Given the description of an element on the screen output the (x, y) to click on. 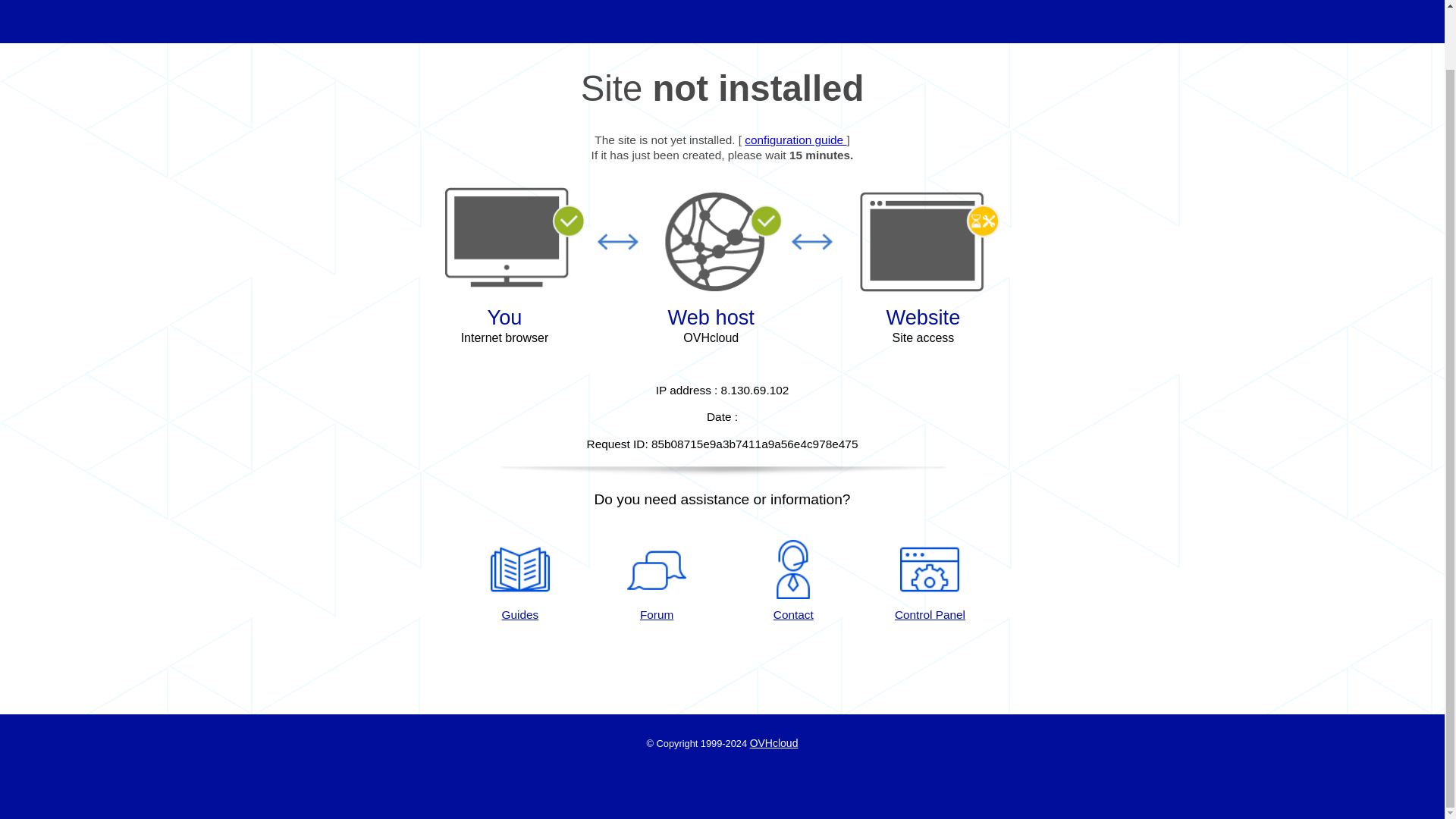
Control Panel (930, 581)
Contact (793, 581)
Forum (656, 581)
Guides (519, 581)
Guides (519, 581)
Control Panel (930, 581)
Guides (794, 139)
configuration guide (794, 139)
Forum (656, 581)
OVHcloud (773, 743)
